Given the description of an element on the screen output the (x, y) to click on. 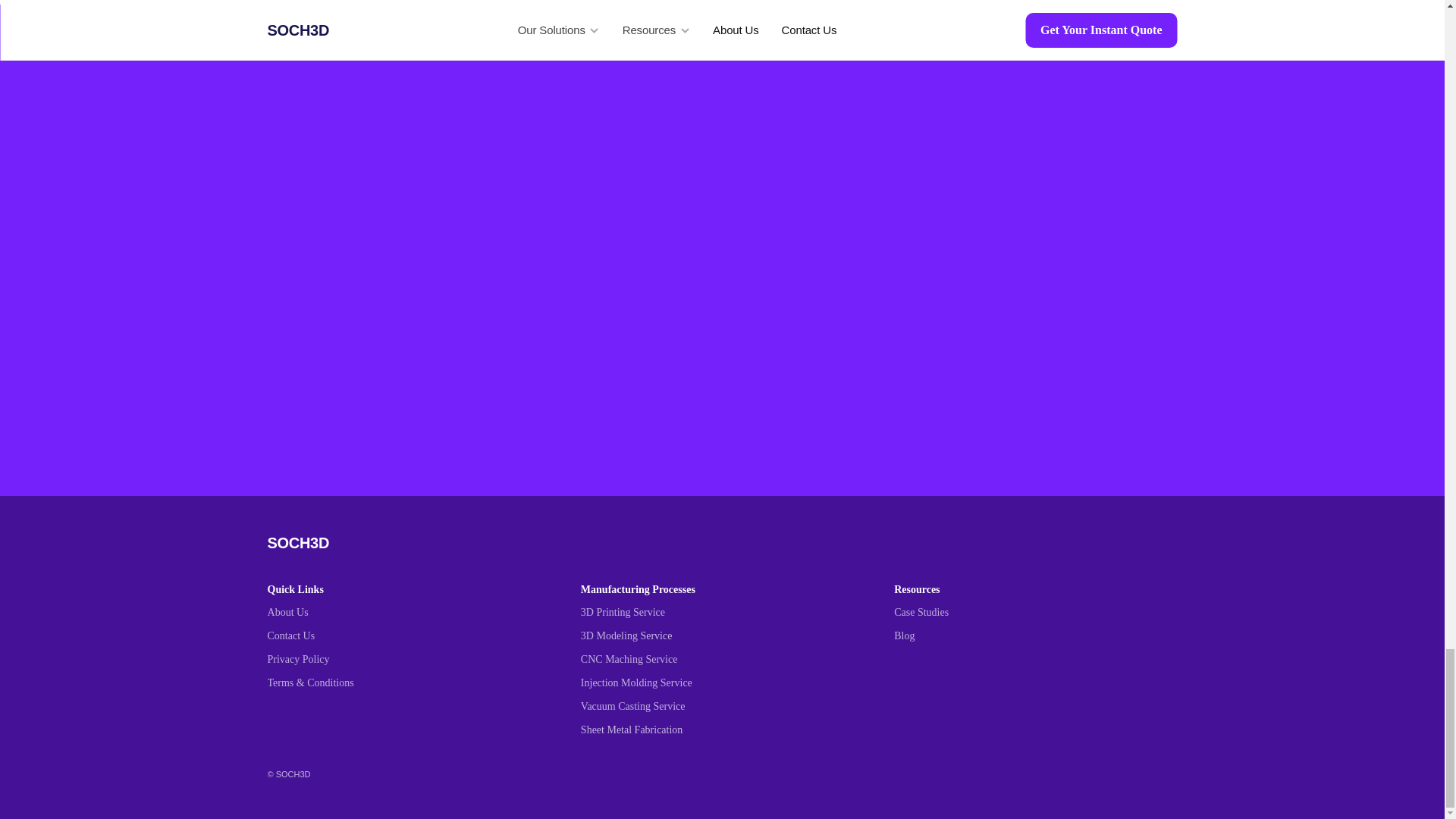
Injection Molding Service (636, 682)
3D Modeling  (610, 635)
3D Printing Service (622, 612)
Contact Us (291, 635)
CNC Maching Service (629, 659)
Vacuum Casting Service (632, 706)
Privacy Policy (298, 659)
Case Studies (921, 612)
SOCH3D (297, 542)
About Us (287, 612)
Blog (903, 635)
shoes entirely made by 3D printing (962, 742)
